Given the description of an element on the screen output the (x, y) to click on. 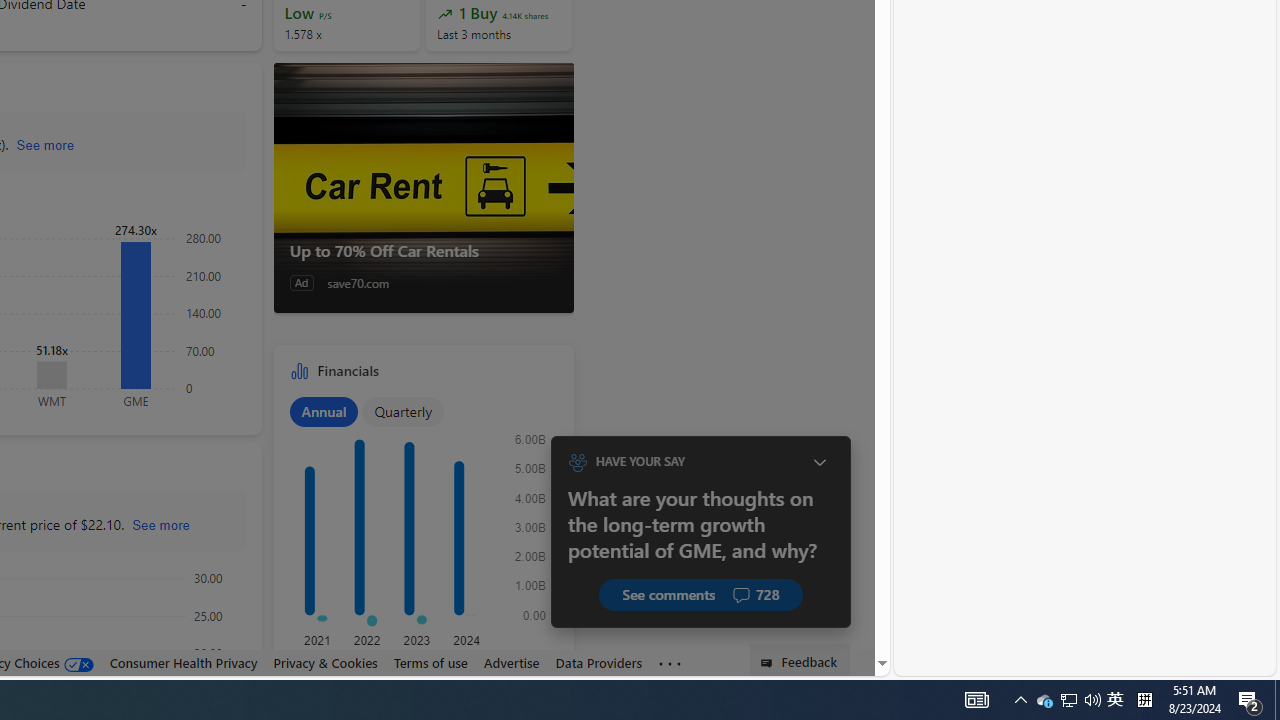
Financials (423, 522)
Terms of use (430, 663)
Advertise (511, 663)
Consumer Health Privacy (183, 662)
Data Providers (598, 663)
Quarterly (403, 411)
Privacy & Cookies (324, 663)
Privacy & Cookies (324, 662)
